Given the description of an element on the screen output the (x, y) to click on. 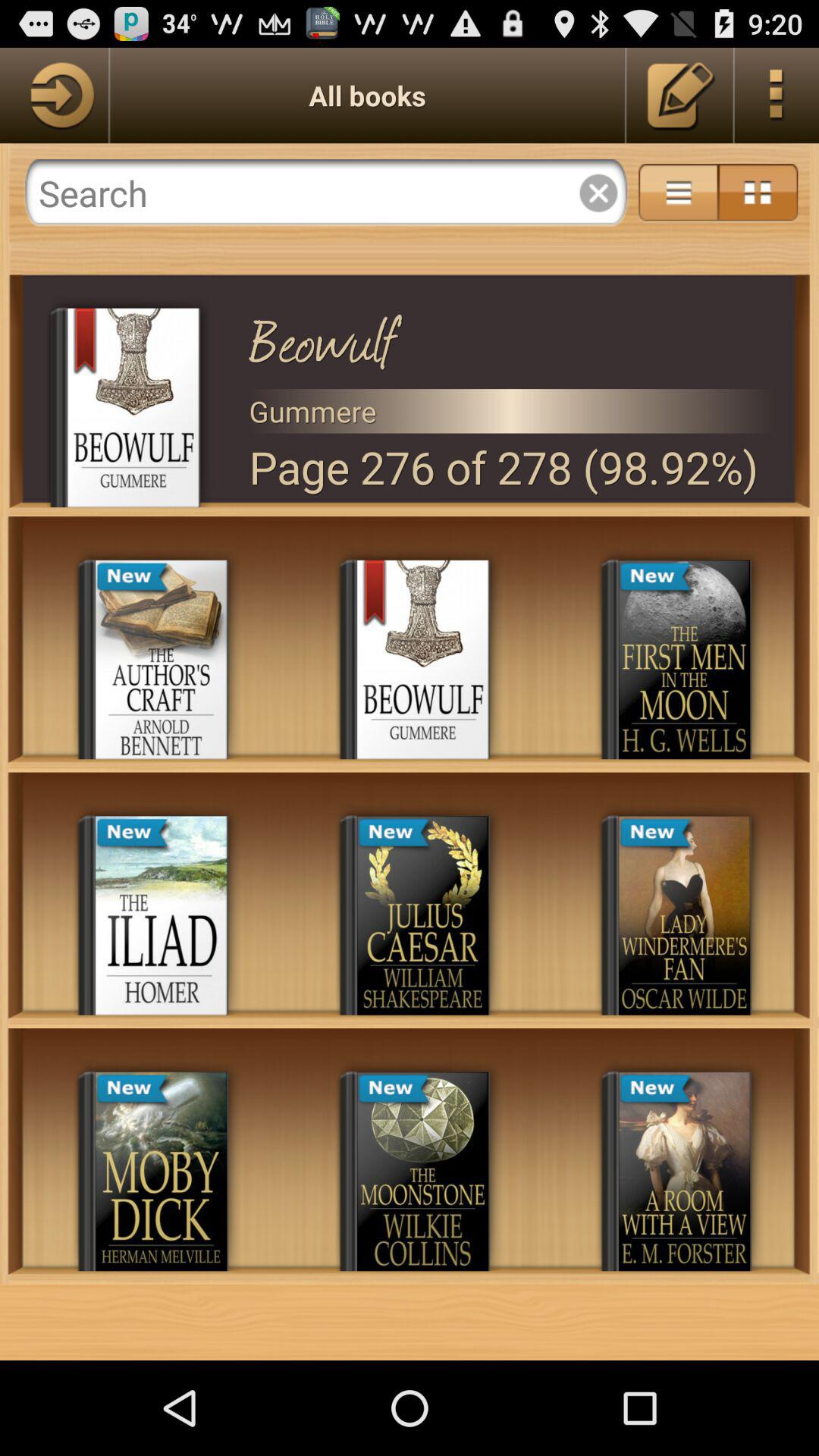
search (325, 192)
